Given the description of an element on the screen output the (x, y) to click on. 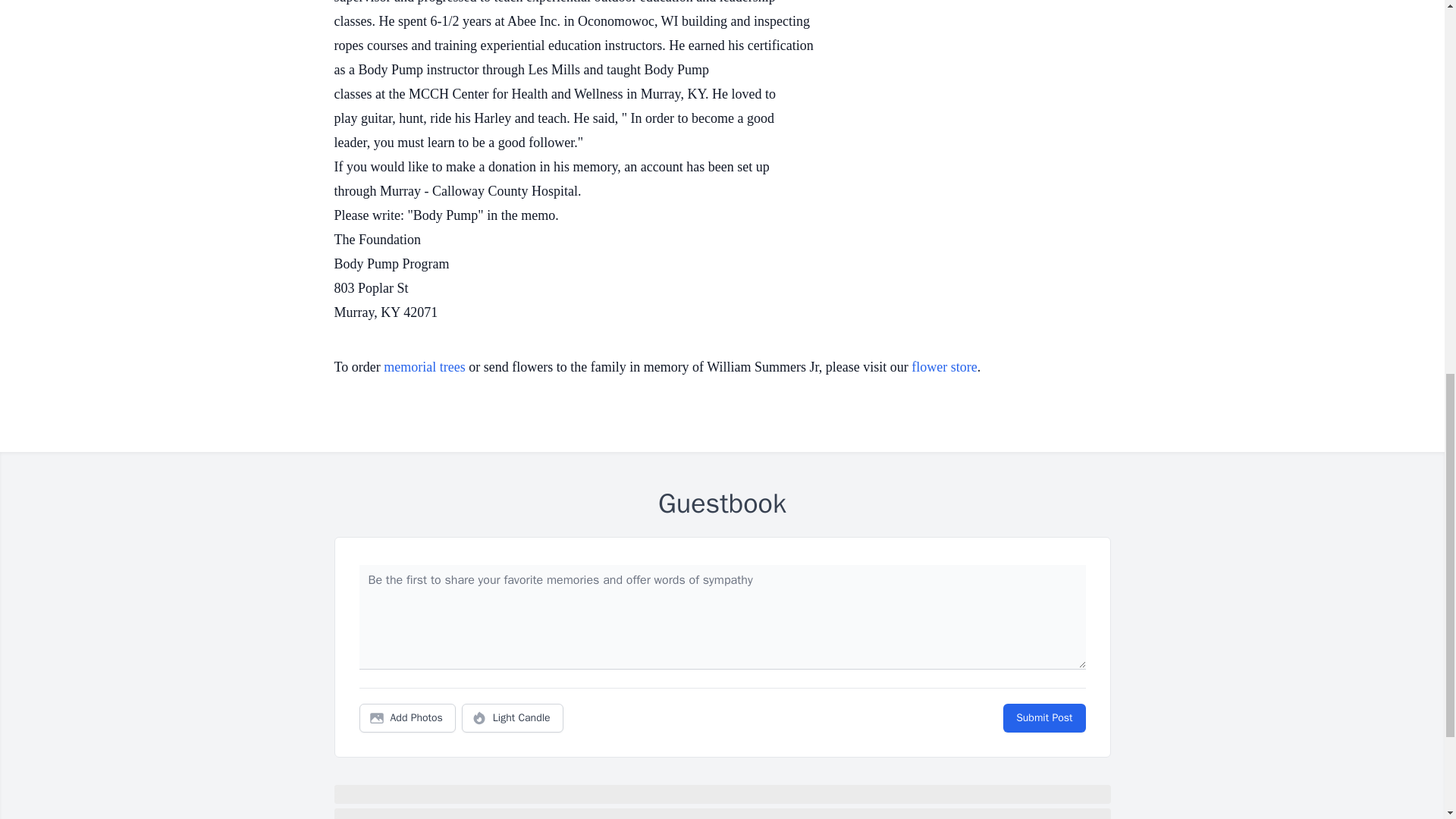
Submit Post (1043, 717)
flower store (943, 366)
Add Photos (407, 717)
memorial trees (424, 366)
Light Candle (512, 717)
